Given the description of an element on the screen output the (x, y) to click on. 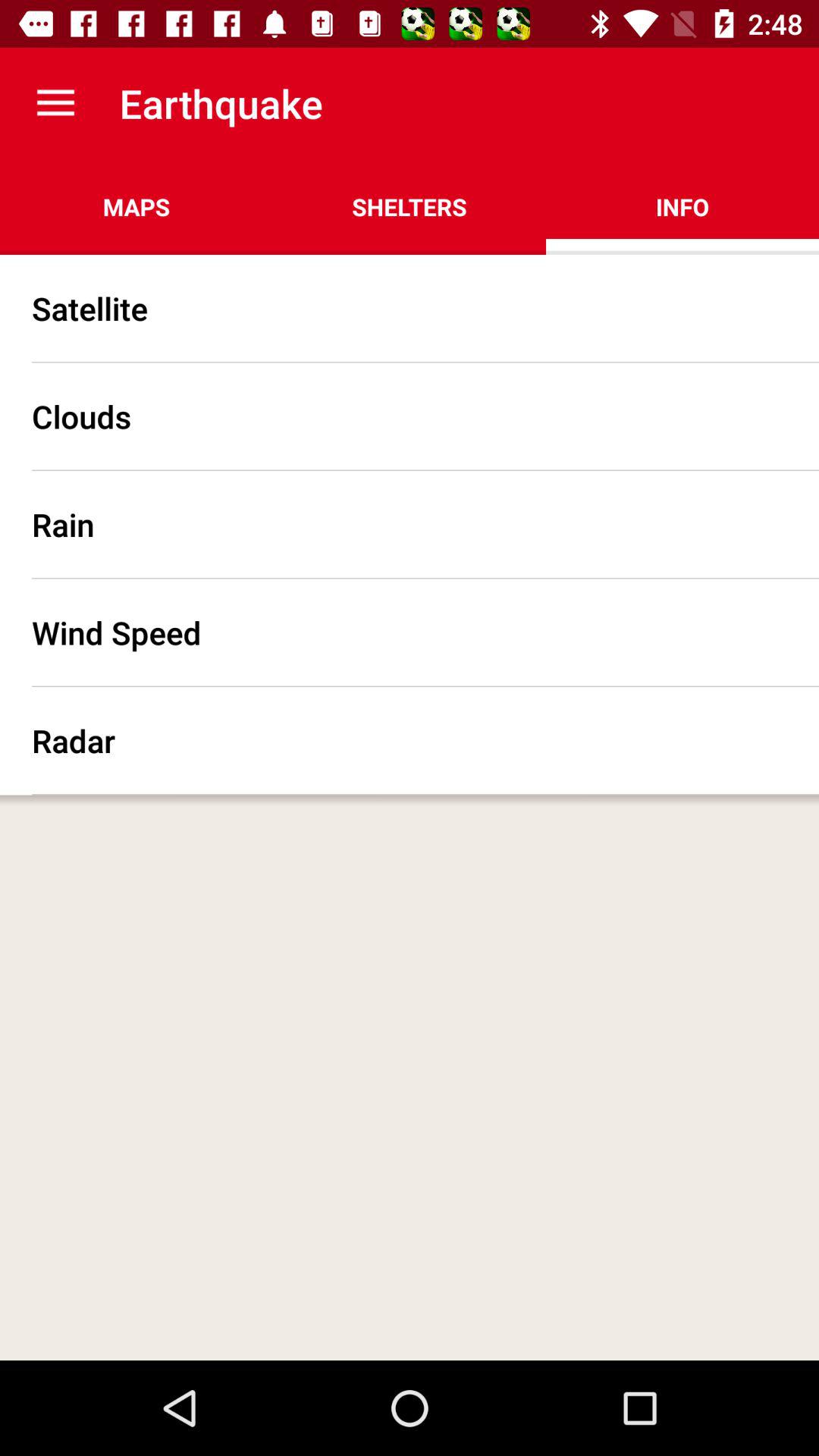
swipe until the shelters icon (409, 206)
